Given the description of an element on the screen output the (x, y) to click on. 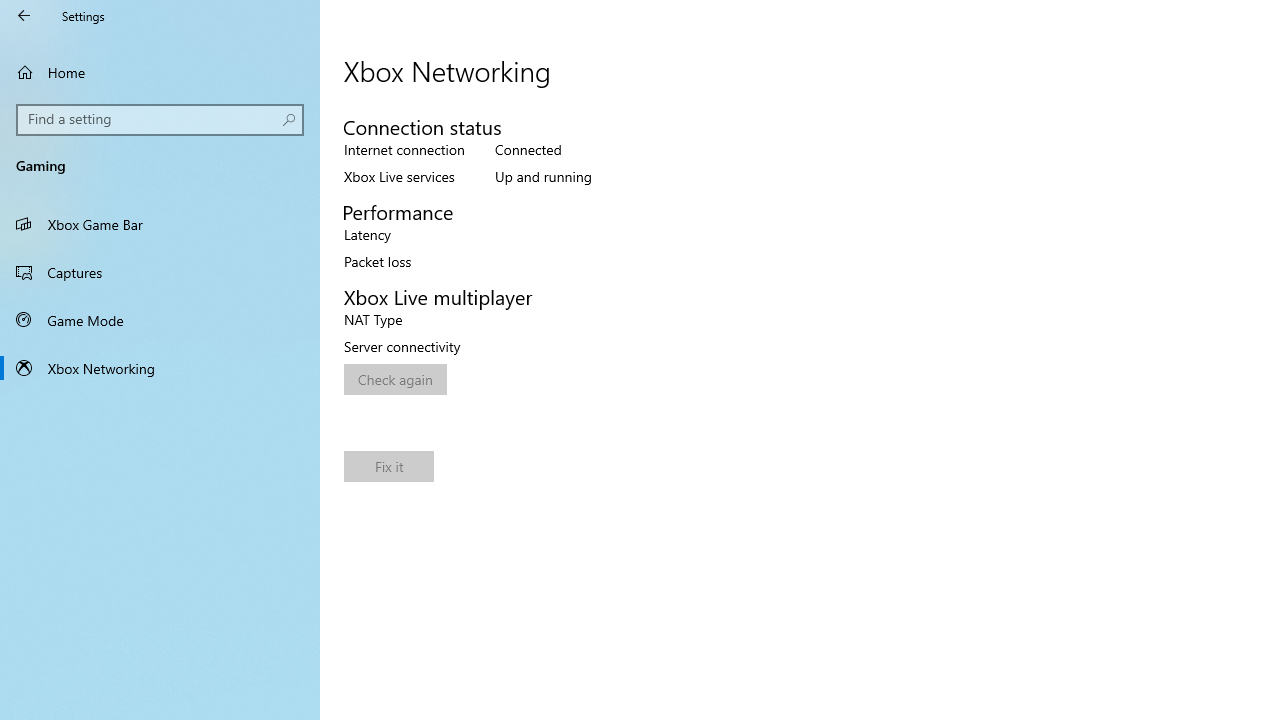
Back (24, 15)
Search box, Find a setting (160, 119)
Check again (395, 379)
Fix it (388, 465)
Home (160, 71)
Xbox Networking (160, 367)
Captures (160, 271)
Xbox Game Bar (160, 223)
Game Mode (160, 319)
